Given the description of an element on the screen output the (x, y) to click on. 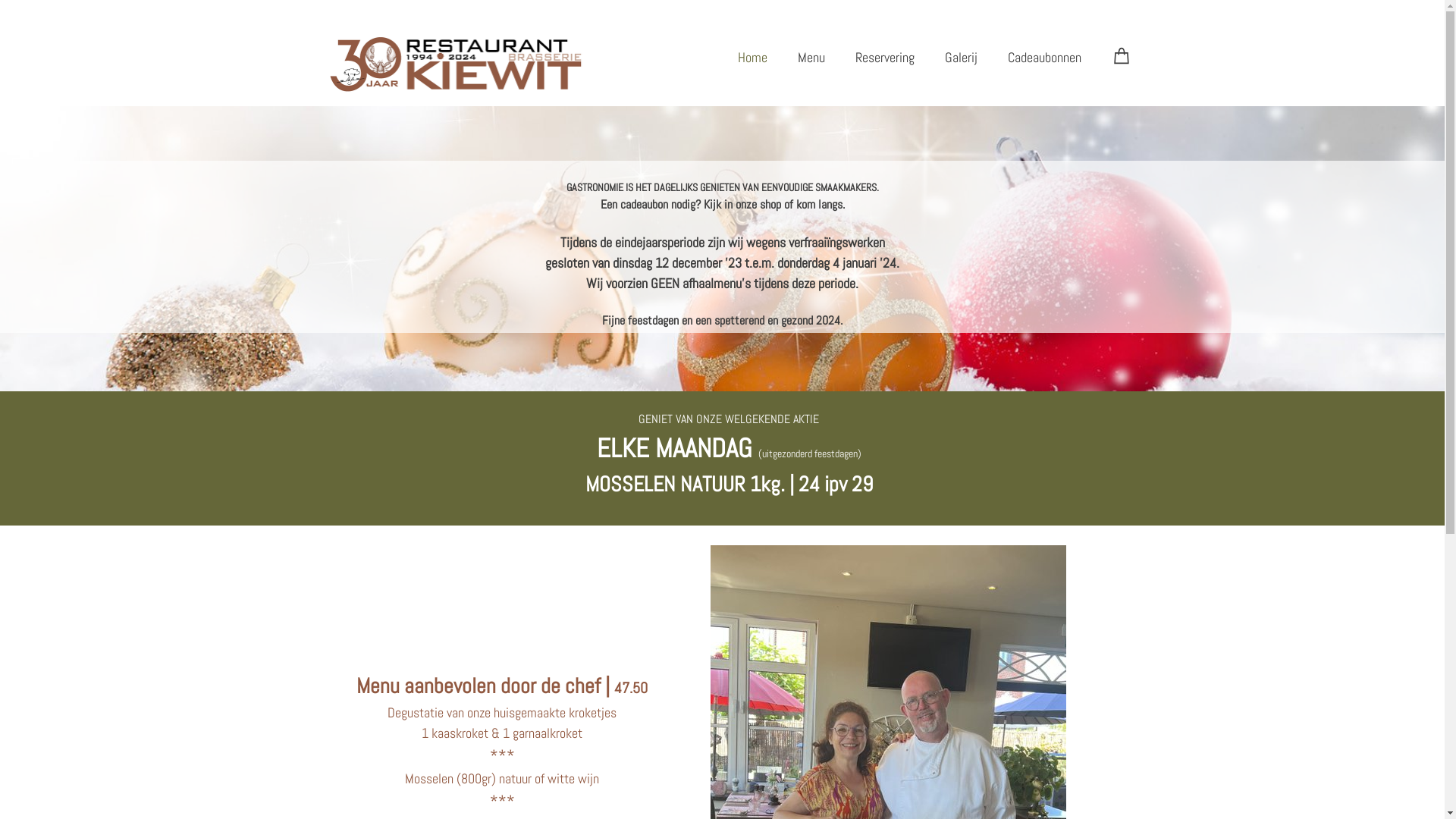
Galerij Element type: text (960, 56)
Home Element type: text (751, 56)
Reservering Element type: text (884, 56)
Cadeaubonnen Element type: text (1043, 56)
Menu Element type: text (811, 56)
